Given the description of an element on the screen output the (x, y) to click on. 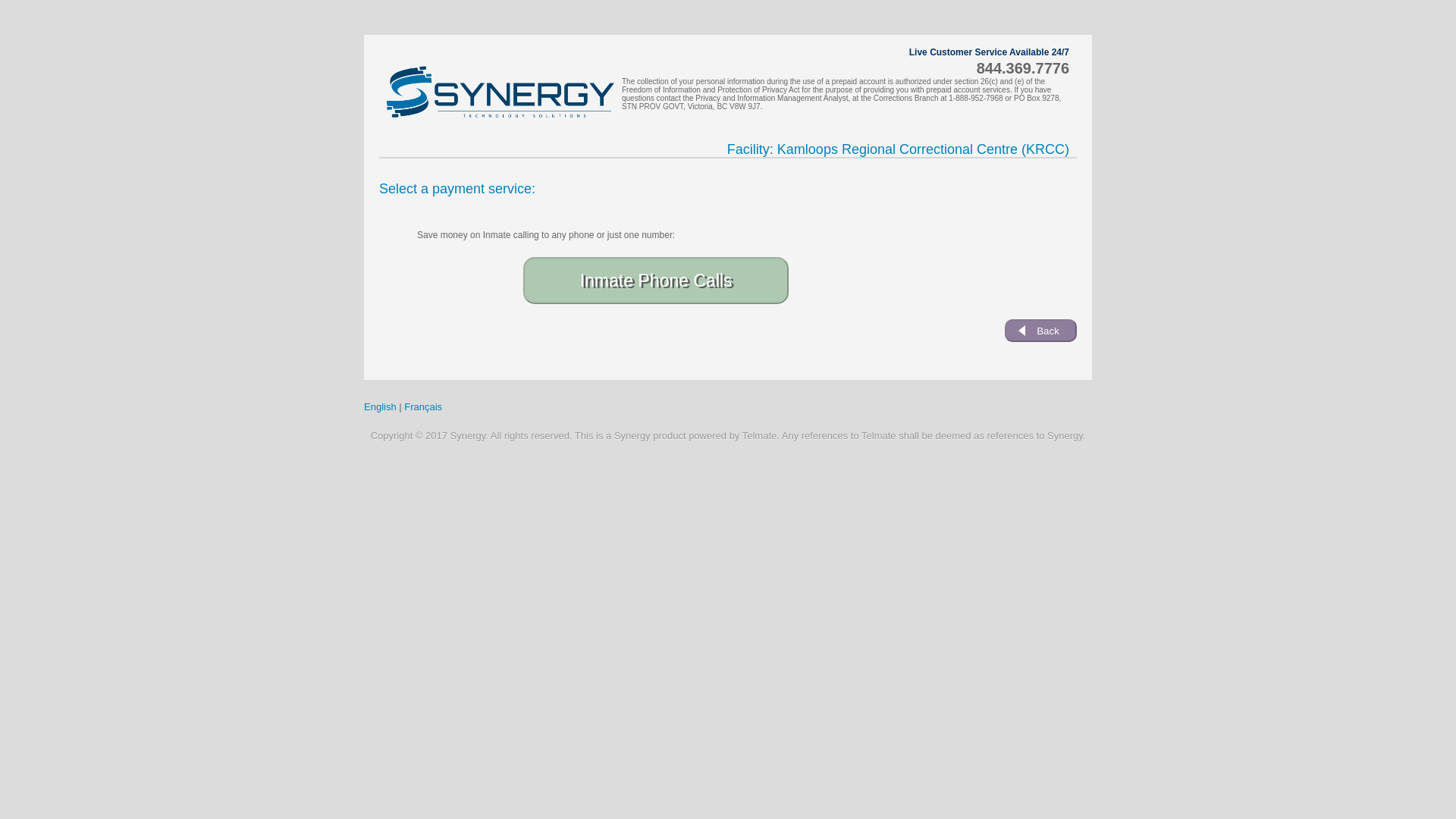
Back (1040, 330)
Inmate Phone Calls (655, 280)
Facility: (751, 149)
English (380, 406)
